Given the description of an element on the screen output the (x, y) to click on. 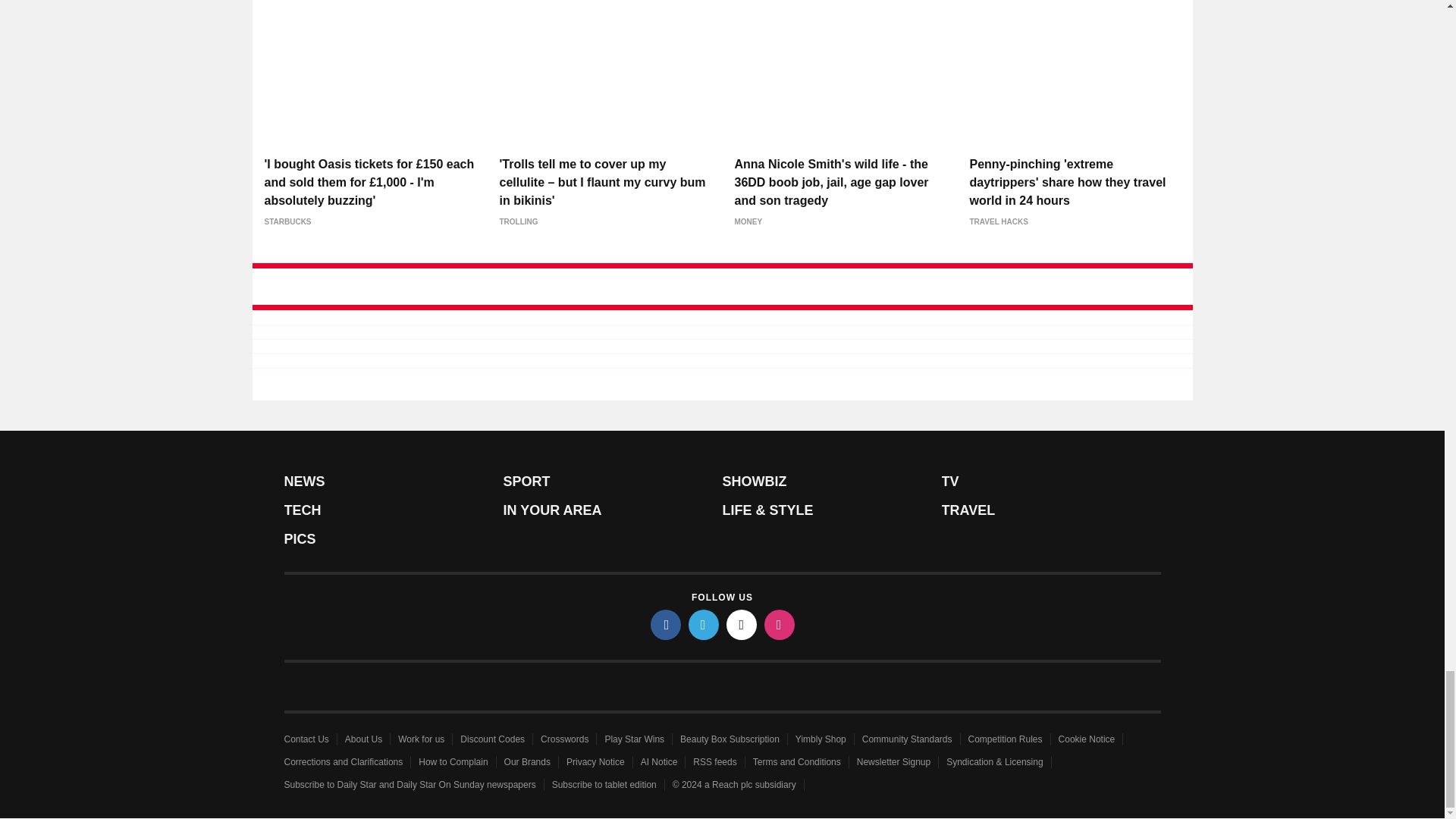
twitter (703, 624)
facebook (665, 624)
tiktok (741, 624)
instagram (779, 624)
